Given the description of an element on the screen output the (x, y) to click on. 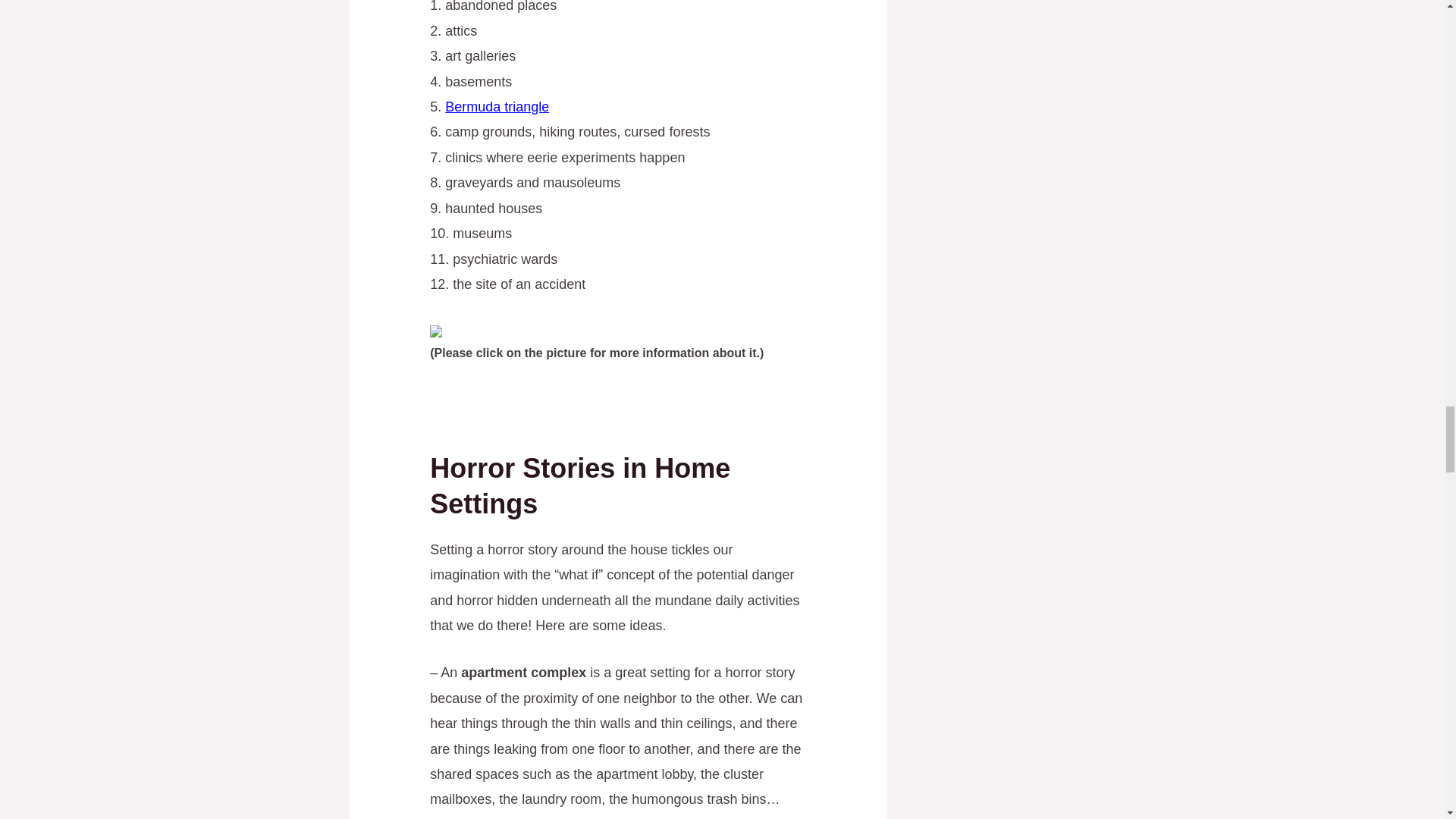
Bermuda triangle (496, 106)
